Given the description of an element on the screen output the (x, y) to click on. 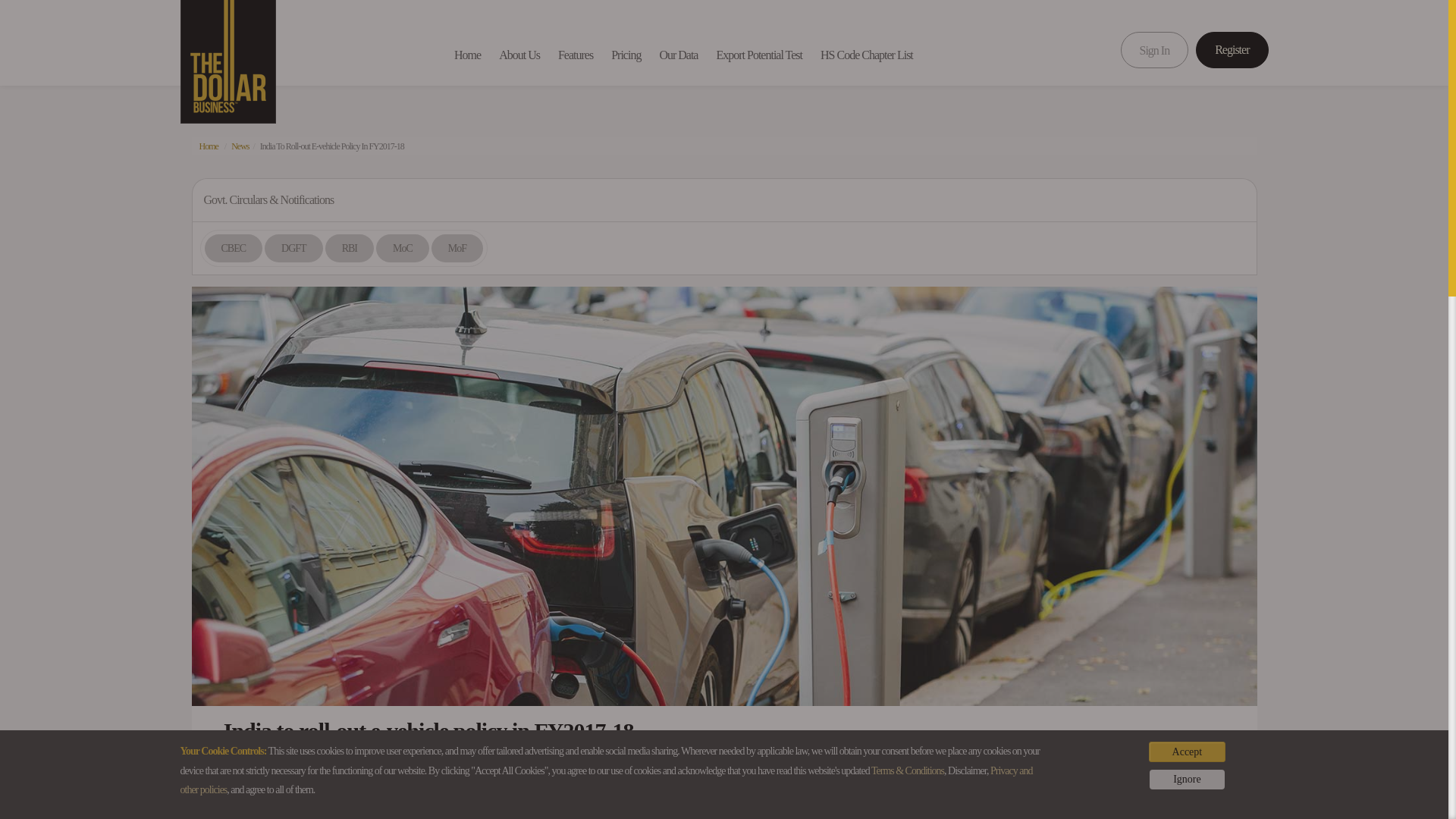
Pricing (625, 55)
Sign In (1155, 49)
Our Data (678, 55)
Export Potential Test (759, 55)
Home (207, 145)
News (239, 145)
About Us (519, 55)
Home (467, 55)
Register (1231, 49)
HS Code Chapter List (866, 55)
CBEC (233, 247)
MoF (456, 247)
MoC (402, 247)
Features (574, 55)
DGFT (293, 247)
